Given the description of an element on the screen output the (x, y) to click on. 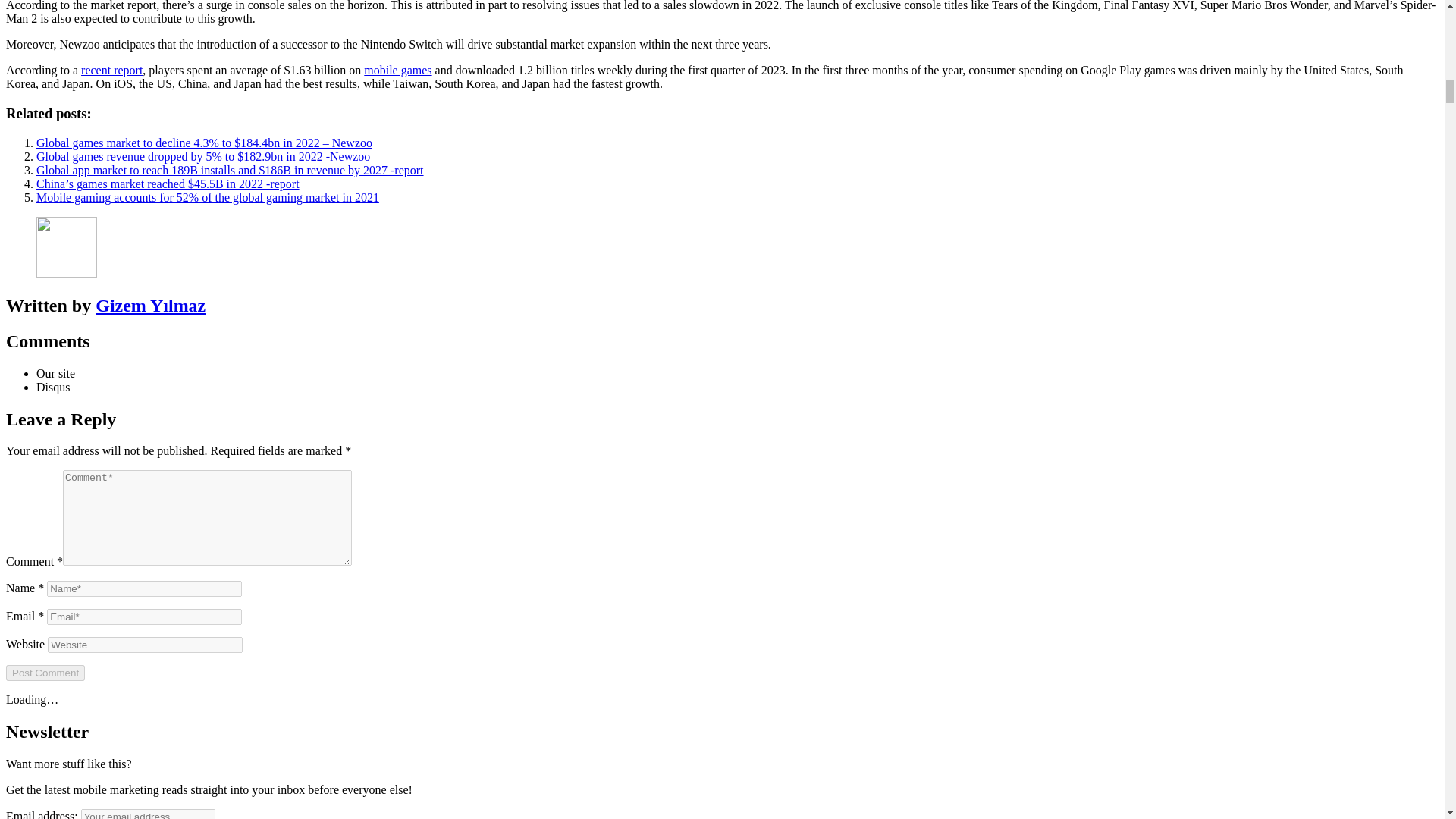
Post Comment (44, 672)
mobile games (397, 69)
recent report (111, 69)
